Given the description of an element on the screen output the (x, y) to click on. 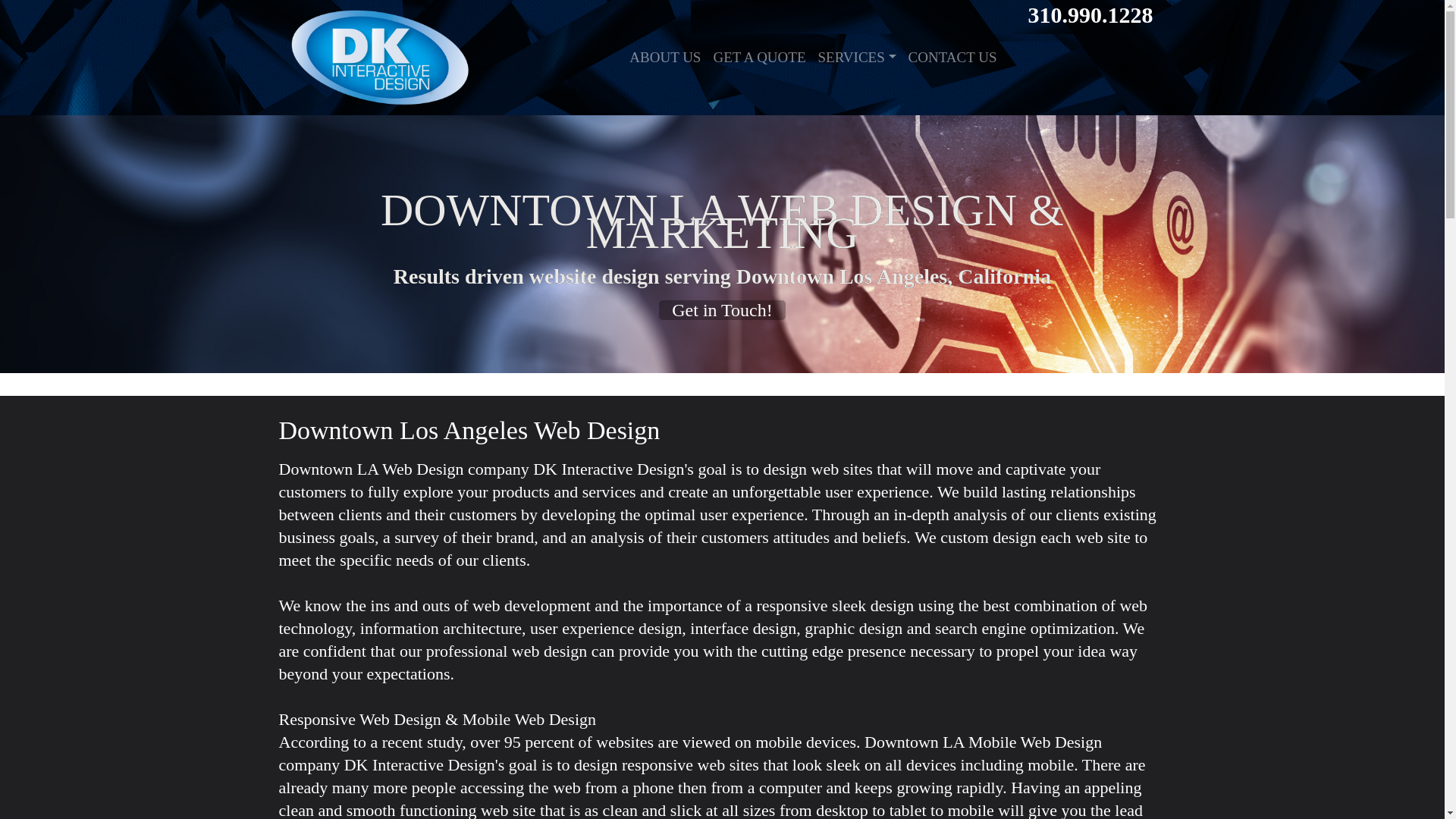
SERVICES (857, 57)
310.990.1228 (1090, 12)
GET A QUOTE (758, 57)
Get in Touch! (722, 310)
CONTACT US (952, 57)
ABOUT US (664, 57)
